Given the description of an element on the screen output the (x, y) to click on. 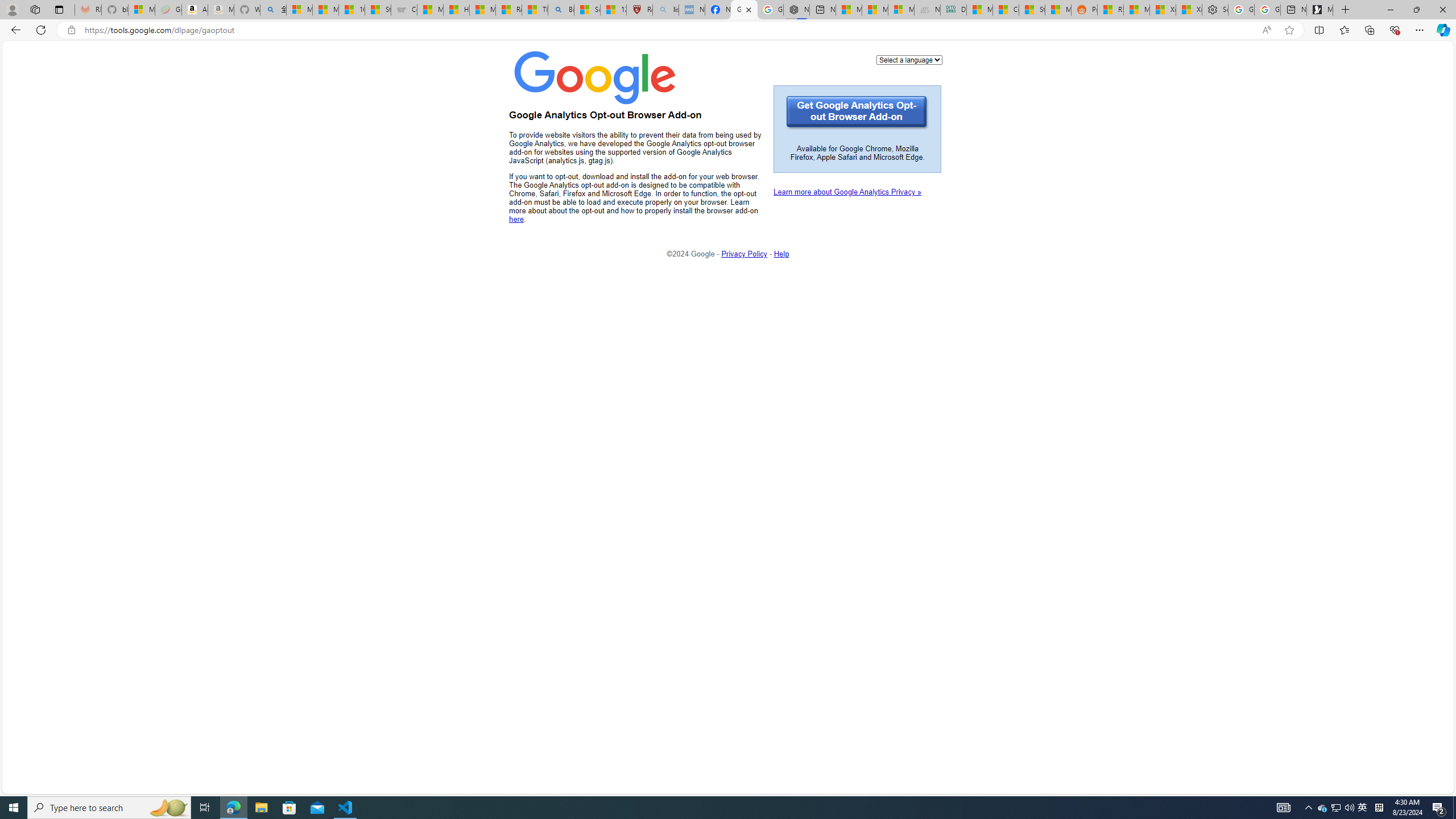
R******* | Trusted Community Engagement and Contributions (1110, 9)
Bing (561, 9)
Language (909, 59)
